Given the description of an element on the screen output the (x, y) to click on. 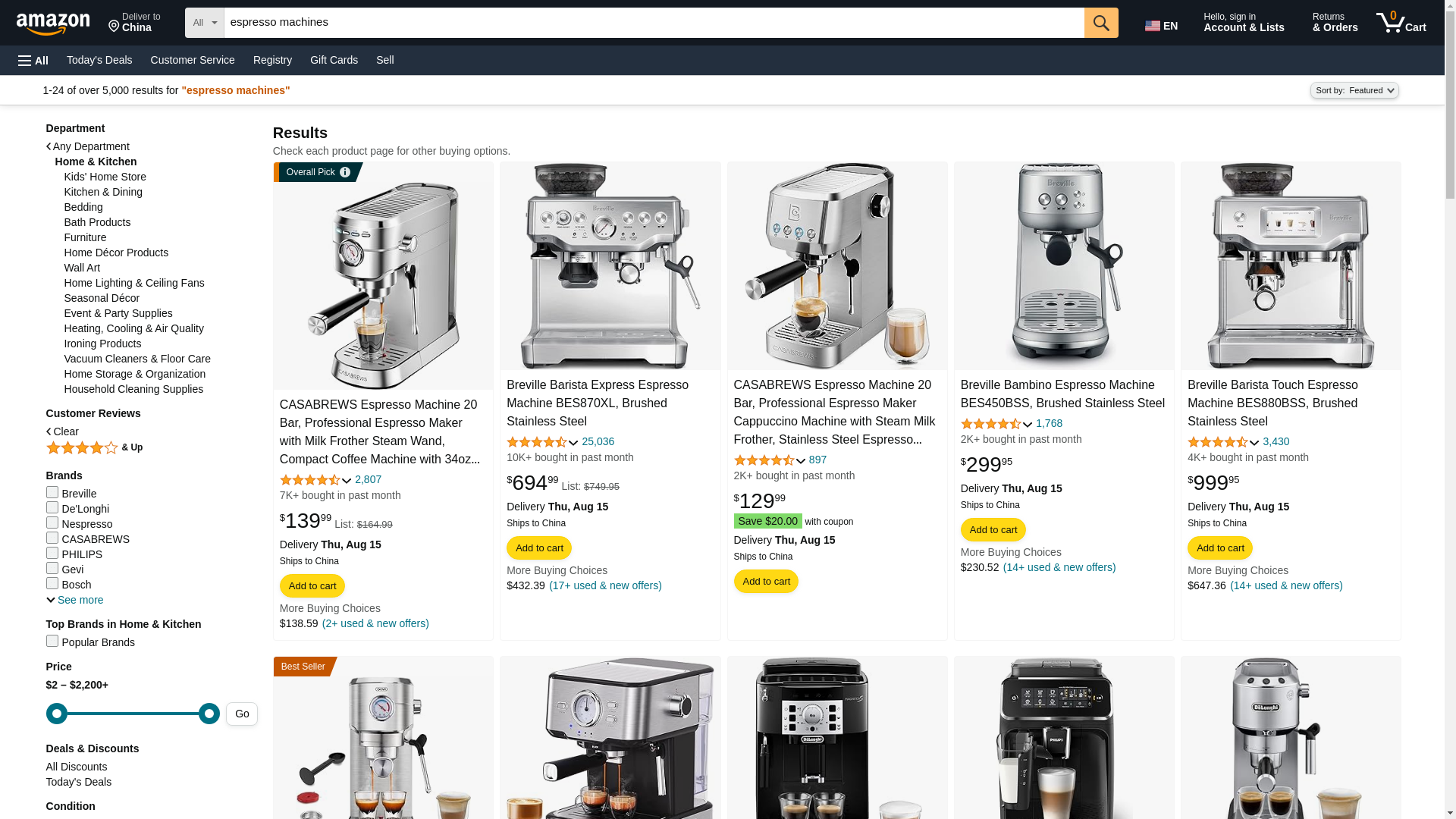
0 (133, 712)
Today's Deals (99, 59)
Registry (272, 59)
Sell (384, 59)
All (33, 60)
Customer Service (192, 59)
2,821 (365, 480)
Go (1101, 22)
25,051 (594, 457)
